Given the description of an element on the screen output the (x, y) to click on. 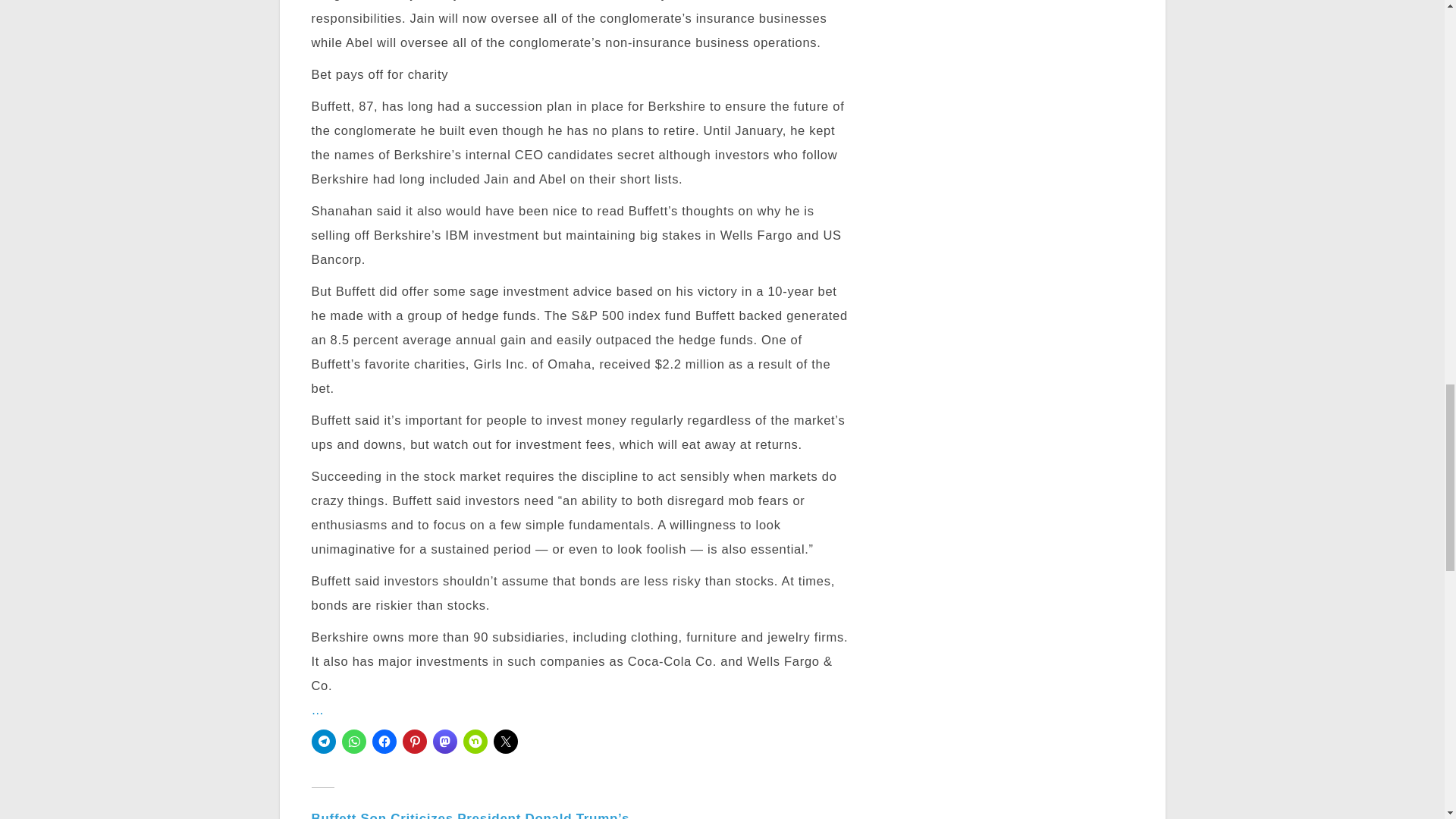
Click to share on Pinterest (413, 741)
Click to share on Mastodon (444, 741)
Click to share on WhatsApp (352, 741)
Click to share on X (504, 741)
Click to share on Facebook (383, 741)
Click to share on Telegram (322, 741)
Click to share on Nextdoor (474, 741)
